Given the description of an element on the screen output the (x, y) to click on. 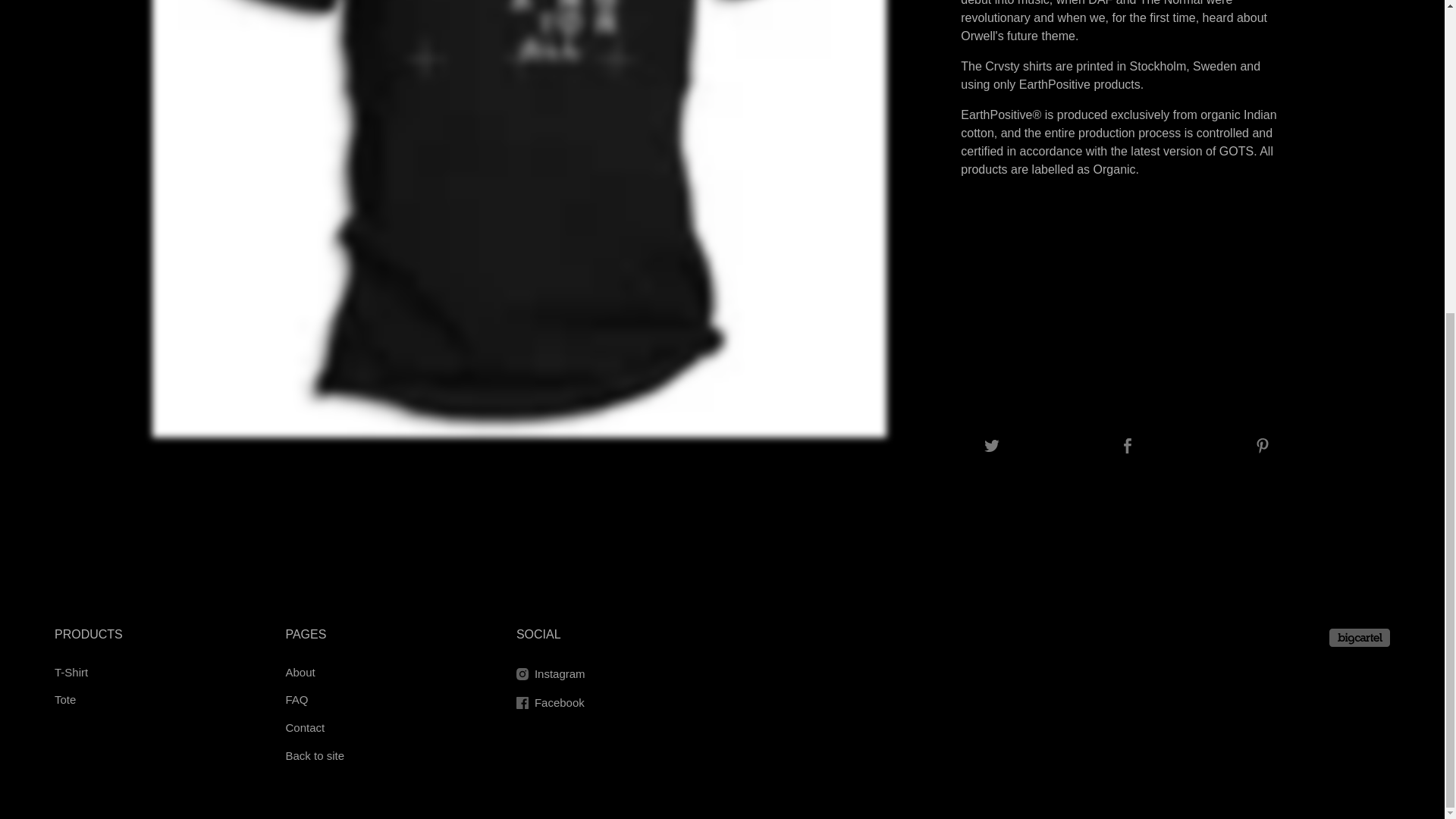
About (380, 673)
Products (88, 634)
FAQ (380, 700)
View T-Shirt (149, 673)
Contact (380, 728)
Instagram (612, 673)
PRODUCTS (88, 634)
Tweet (991, 447)
T-Shirt (149, 673)
Contact (380, 728)
